Given the description of an element on the screen output the (x, y) to click on. 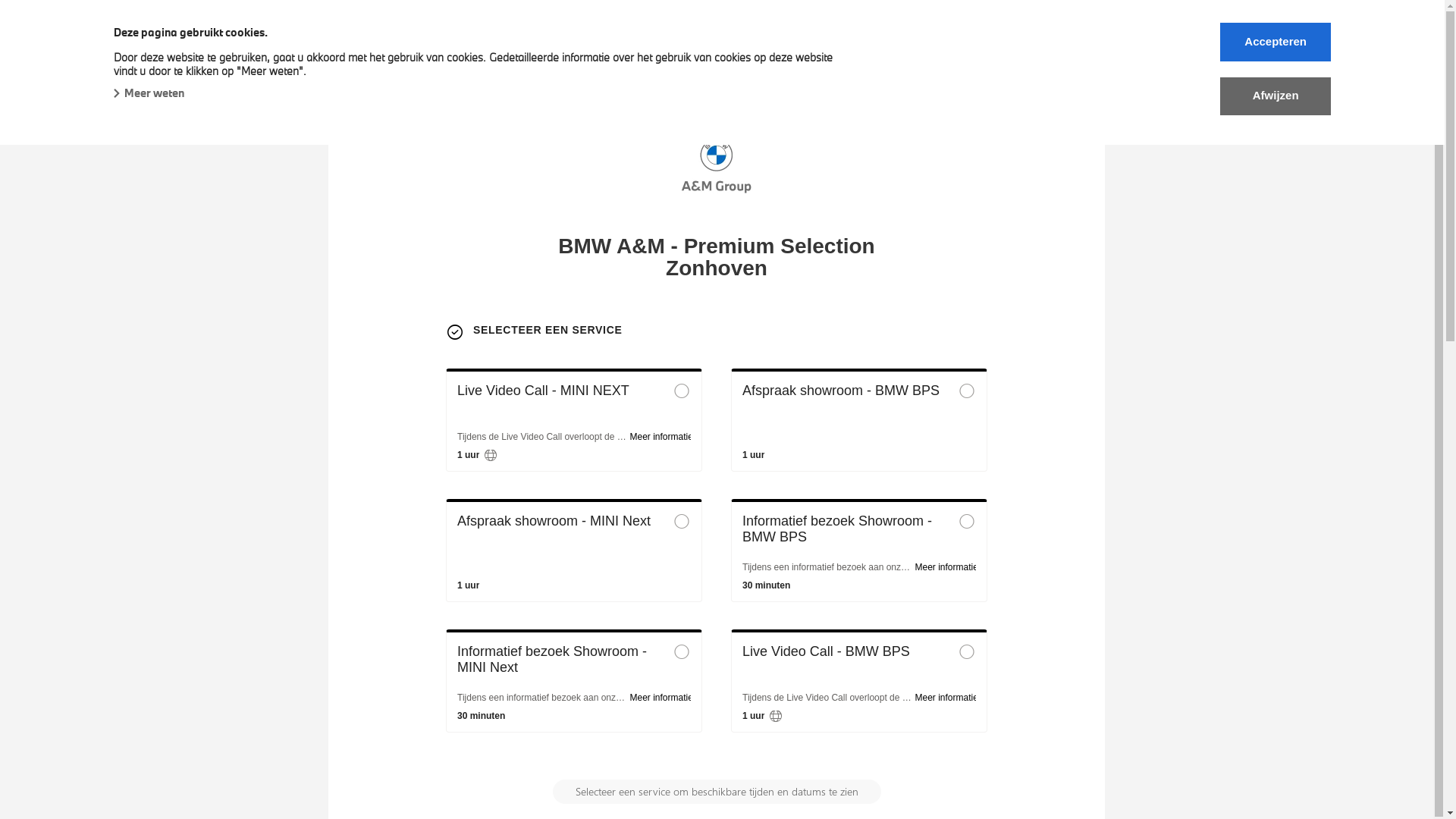
Maak een afspraak Element type: text (976, 63)
Service & Accessoires Element type: text (511, 63)
Fleet Element type: text (408, 63)
BMW A&M Group Element type: text (164, 31)
Meer weten Element type: text (148, 92)
Nieuwe wagens Element type: text (163, 63)
Accepteren Element type: text (1275, 41)
FR/NL Element type: text (1076, 63)
Contact Element type: text (817, 63)
Onze concessies Element type: text (648, 63)
Jobs Element type: text (881, 63)
Skip to main content Element type: text (0, 0)
Afwijzen Element type: text (1275, 95)
Nieuws Element type: text (744, 63)
Snel leverbare wagens Element type: text (301, 63)
